Given the description of an element on the screen output the (x, y) to click on. 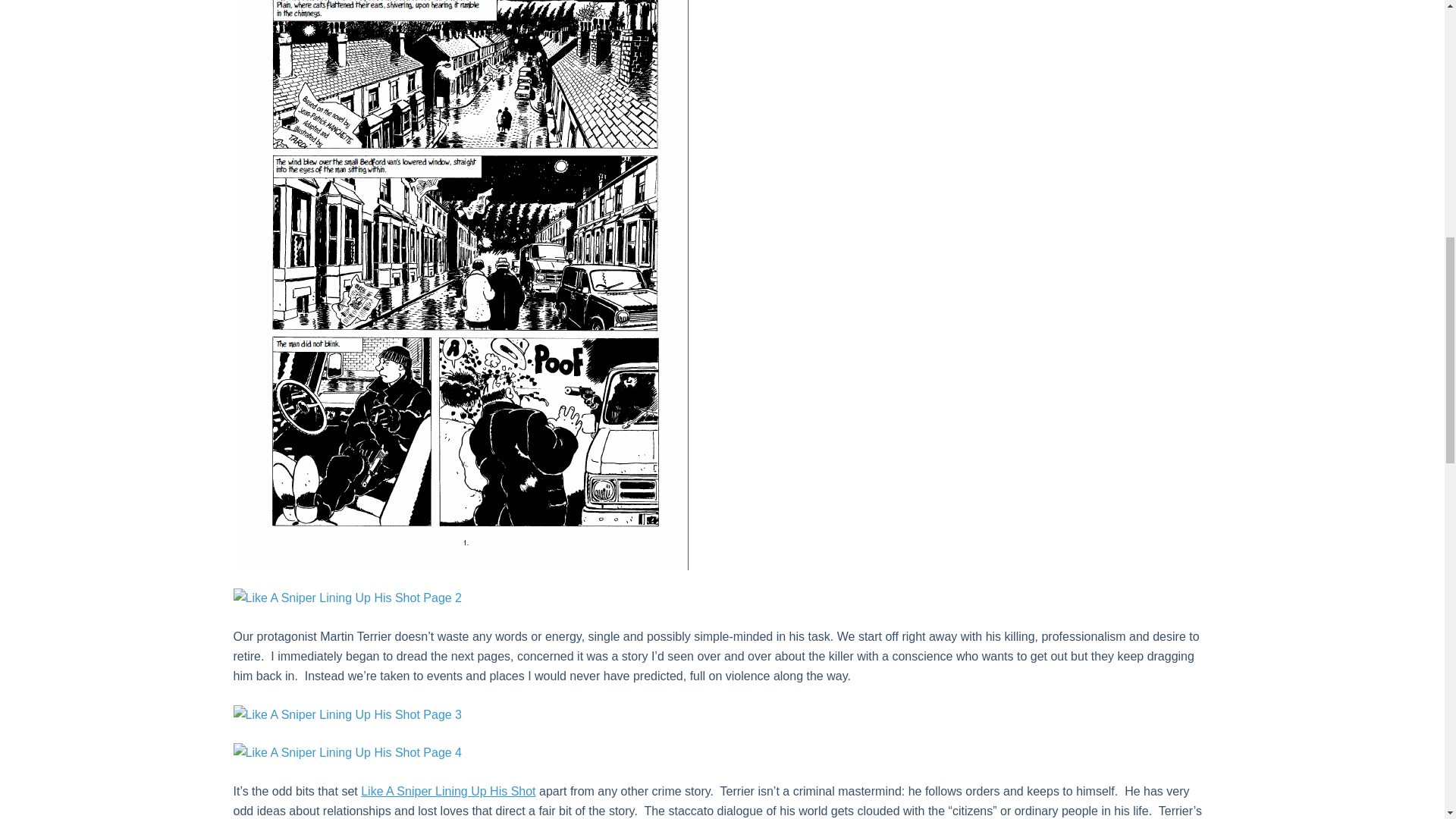
Like-A-Sniper-Lining-Up-His-Shot-Page-4 (347, 752)
Like-A-Sniper-Lining-Up-His-Shot-Page-2 (347, 598)
Like-A-Sniper-Lining-Up-His-Shot-Page-3 (347, 714)
Like A Sniper Lining Up His Shot (448, 790)
